Given the description of an element on the screen output the (x, y) to click on. 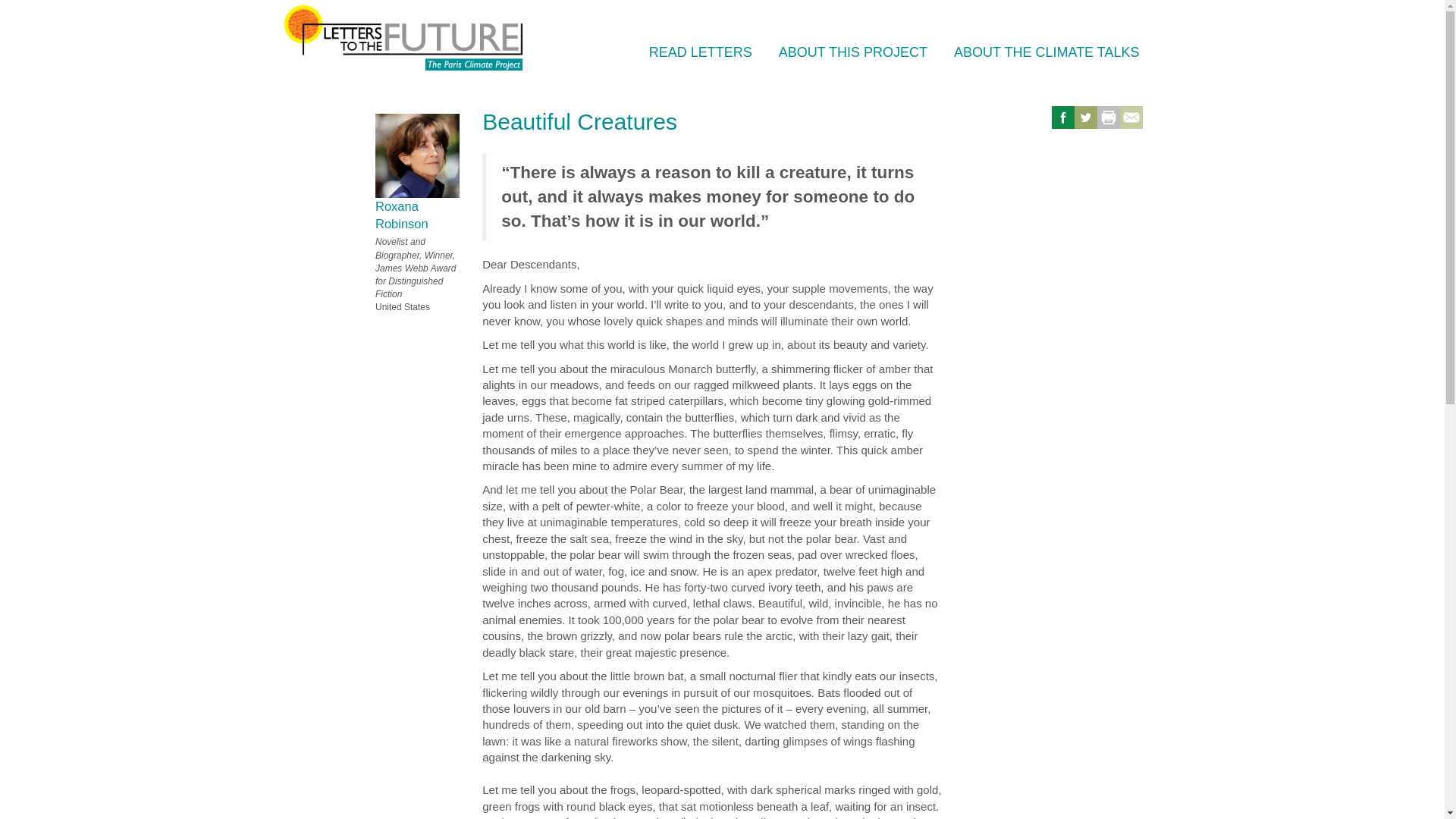
ABOUT THIS PROJECT (852, 52)
READ LETTERS (700, 52)
ABOUT THE CLIMATE TALKS (1045, 52)
